Given the description of an element on the screen output the (x, y) to click on. 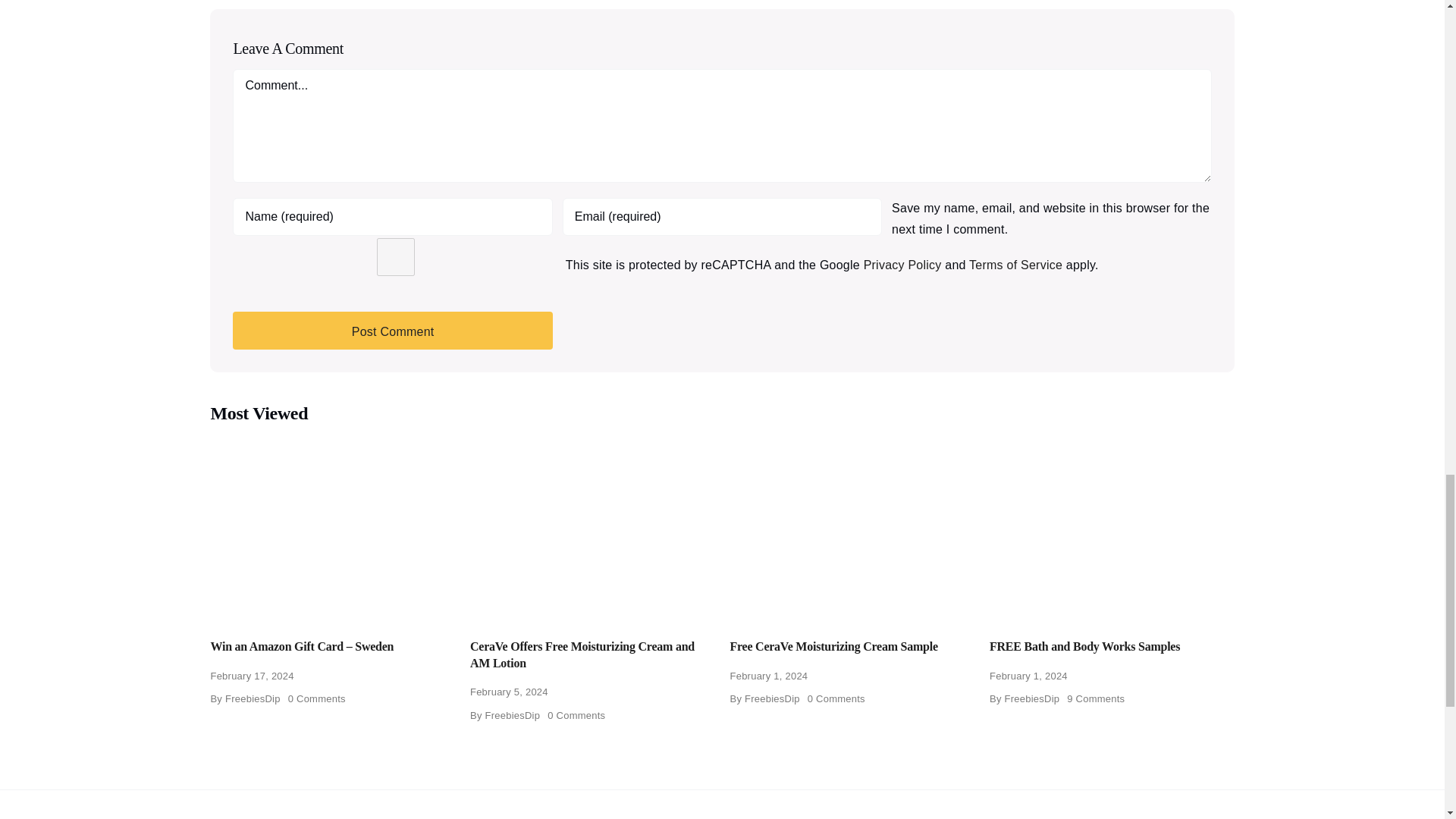
Posts by FreebiesDip (253, 698)
Posts by FreebiesDip (771, 698)
yes (394, 257)
Post Comment (391, 330)
Amazon Gift Card SEK 1000 (331, 527)
CeraVe Moisturizing Cream and AM Lotion (592, 527)
Cerave moisturizing cream sample (851, 527)
Posts by FreebiesDip (512, 715)
